Given the description of an element on the screen output the (x, y) to click on. 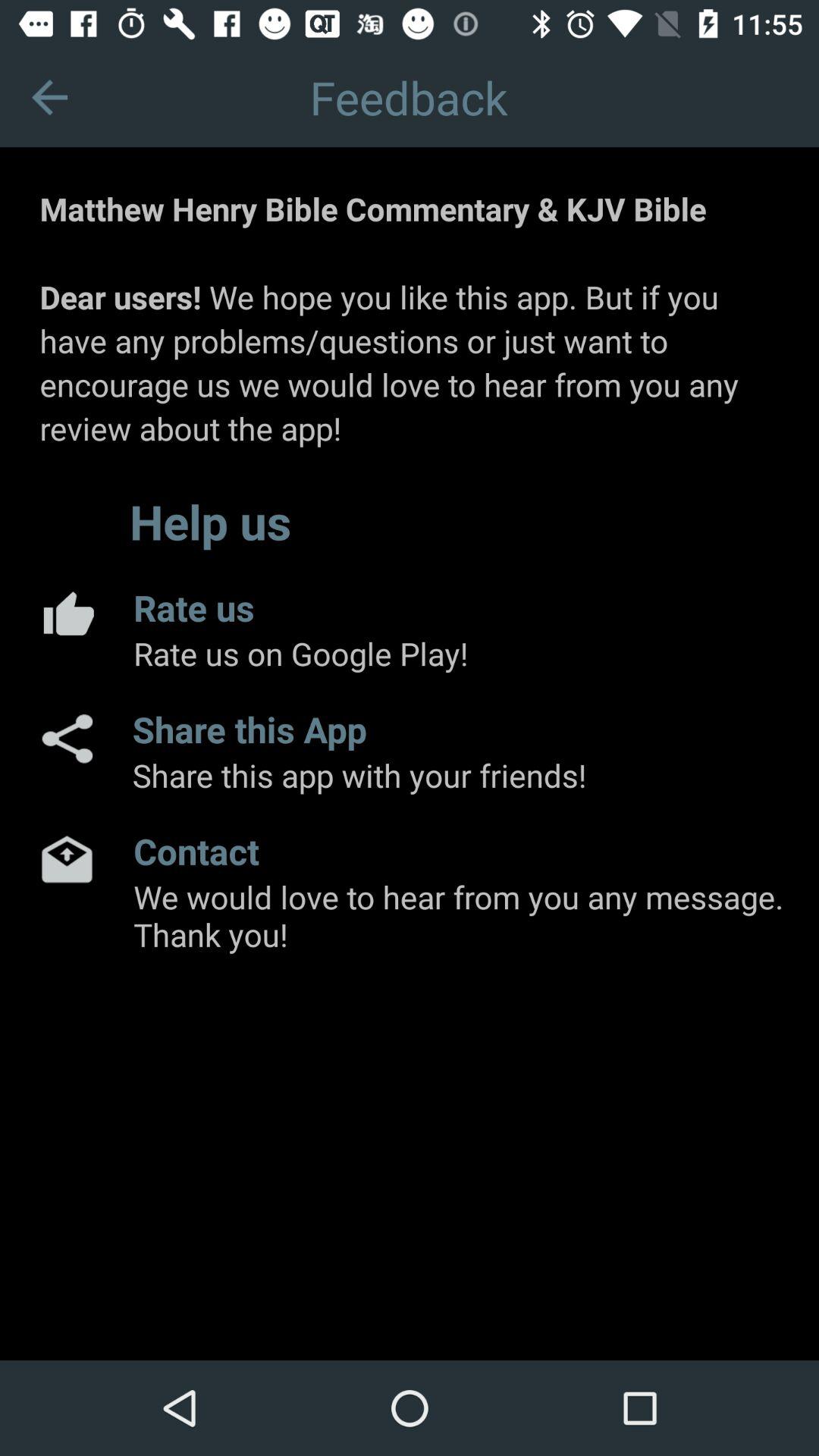
share this app (65, 738)
